Given the description of an element on the screen output the (x, y) to click on. 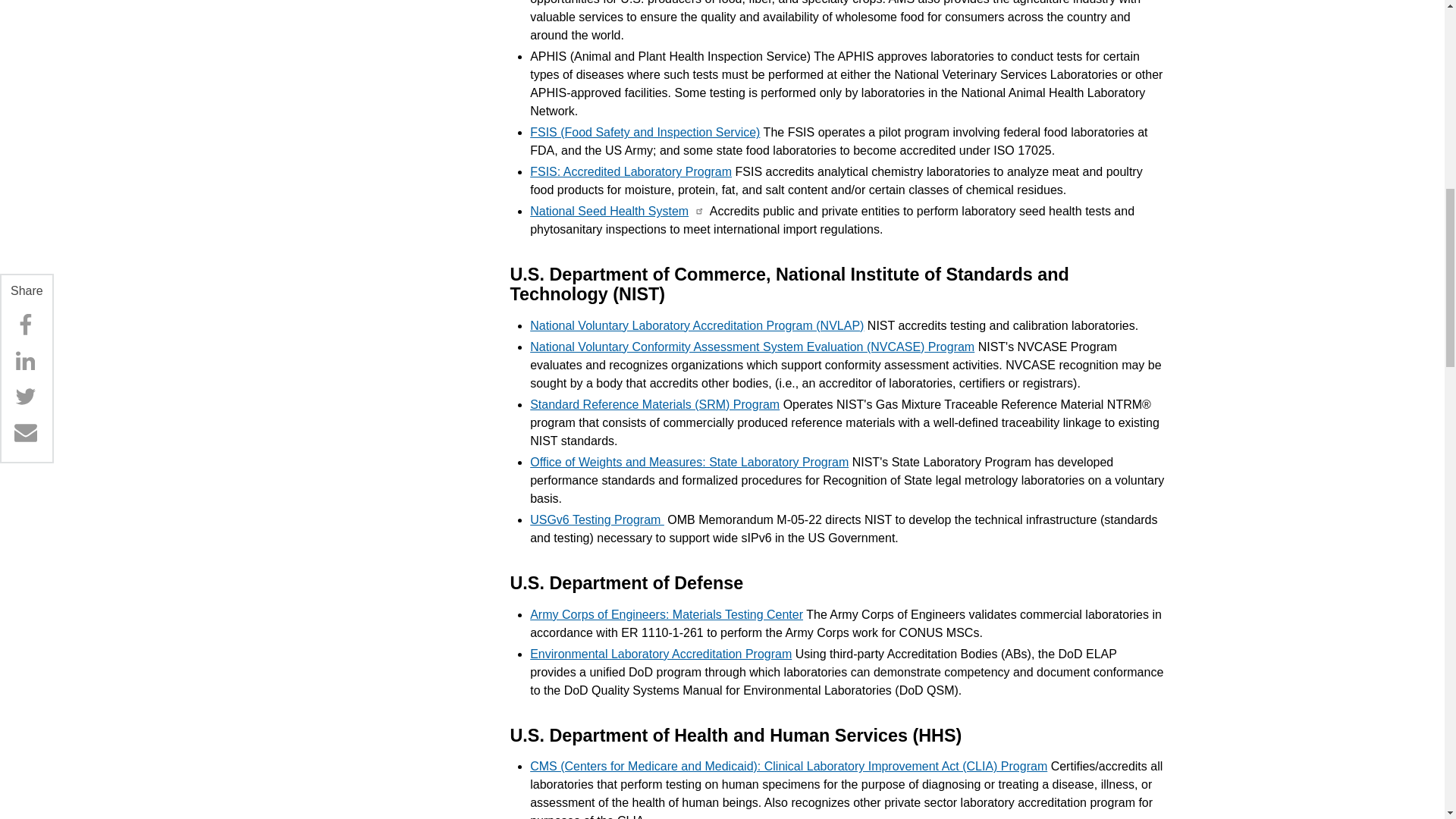
Office of Weights and Measures: State Laboratory Program (688, 461)
Army Corps of Engineers: Materials Testing Center (666, 614)
National Seed Health System (608, 210)
USGv6 Testing Program  (596, 519)
Environmental Laboratory Accreditation Program (660, 653)
FSIS: Accredited Laboratory Program (630, 171)
